Given the description of an element on the screen output the (x, y) to click on. 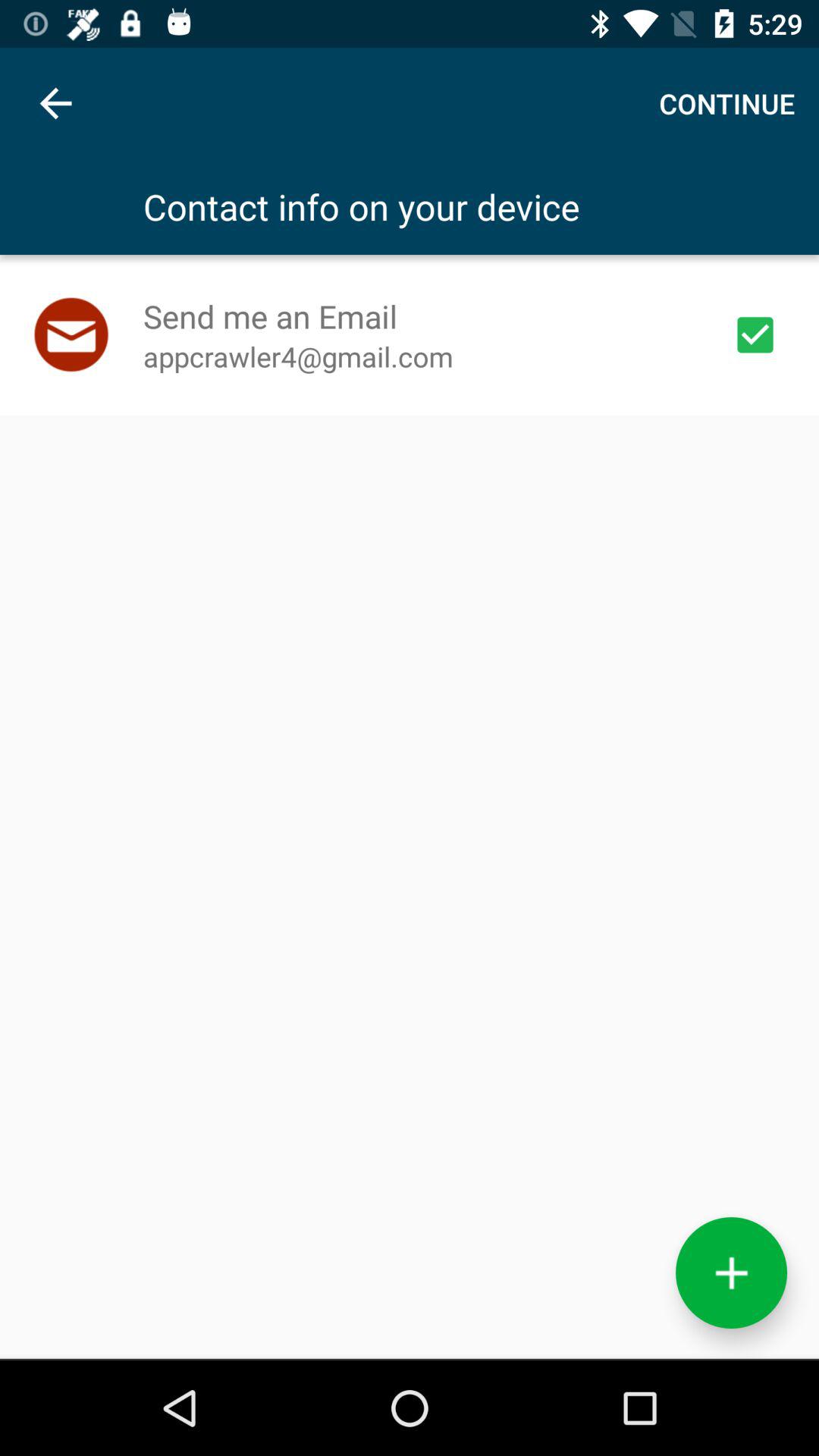
turn on the item below appcrawler4@gmail.com item (731, 1272)
